Given the description of an element on the screen output the (x, y) to click on. 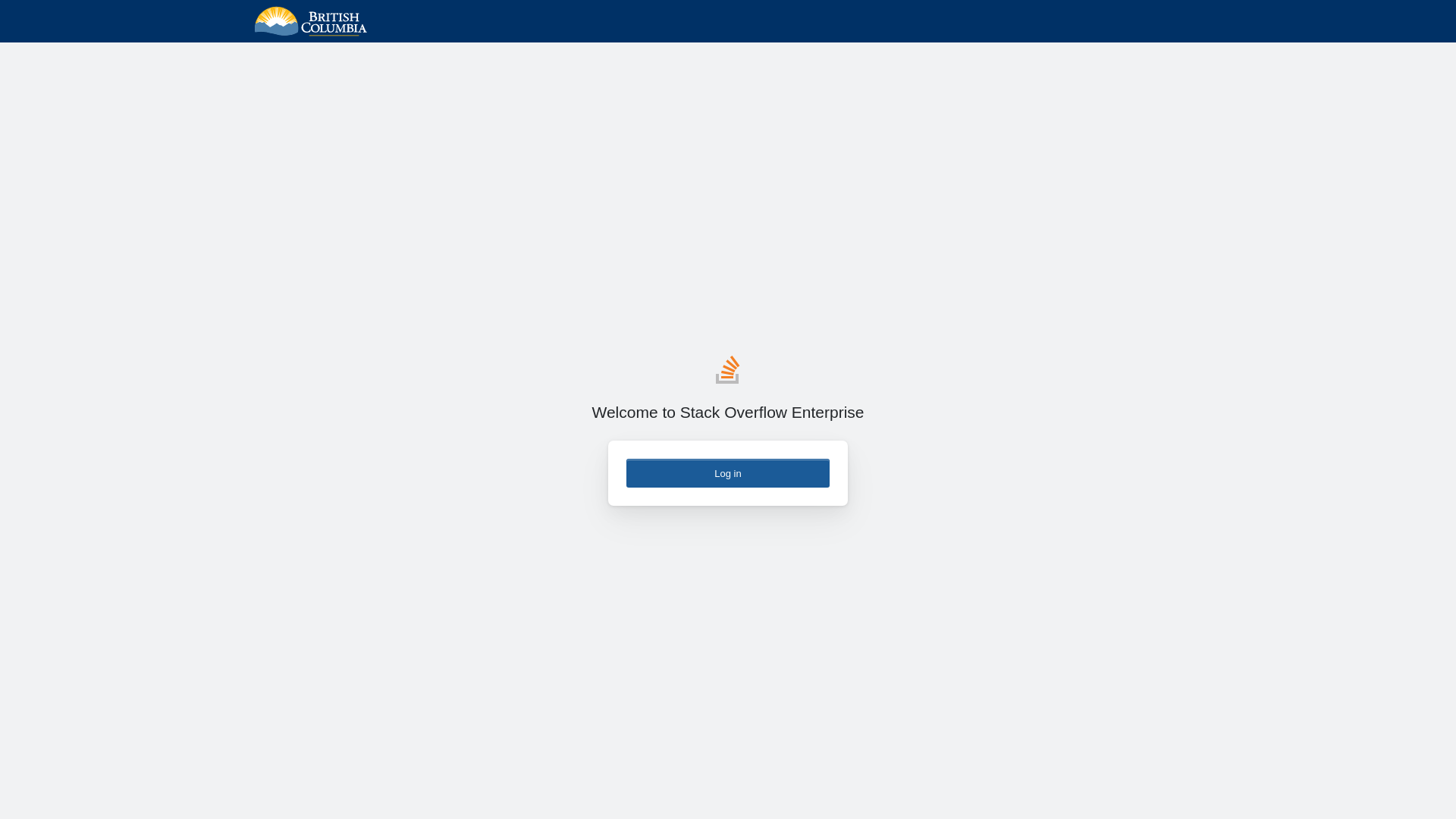
Log in Element type: text (727, 472)
